Given the description of an element on the screen output the (x, y) to click on. 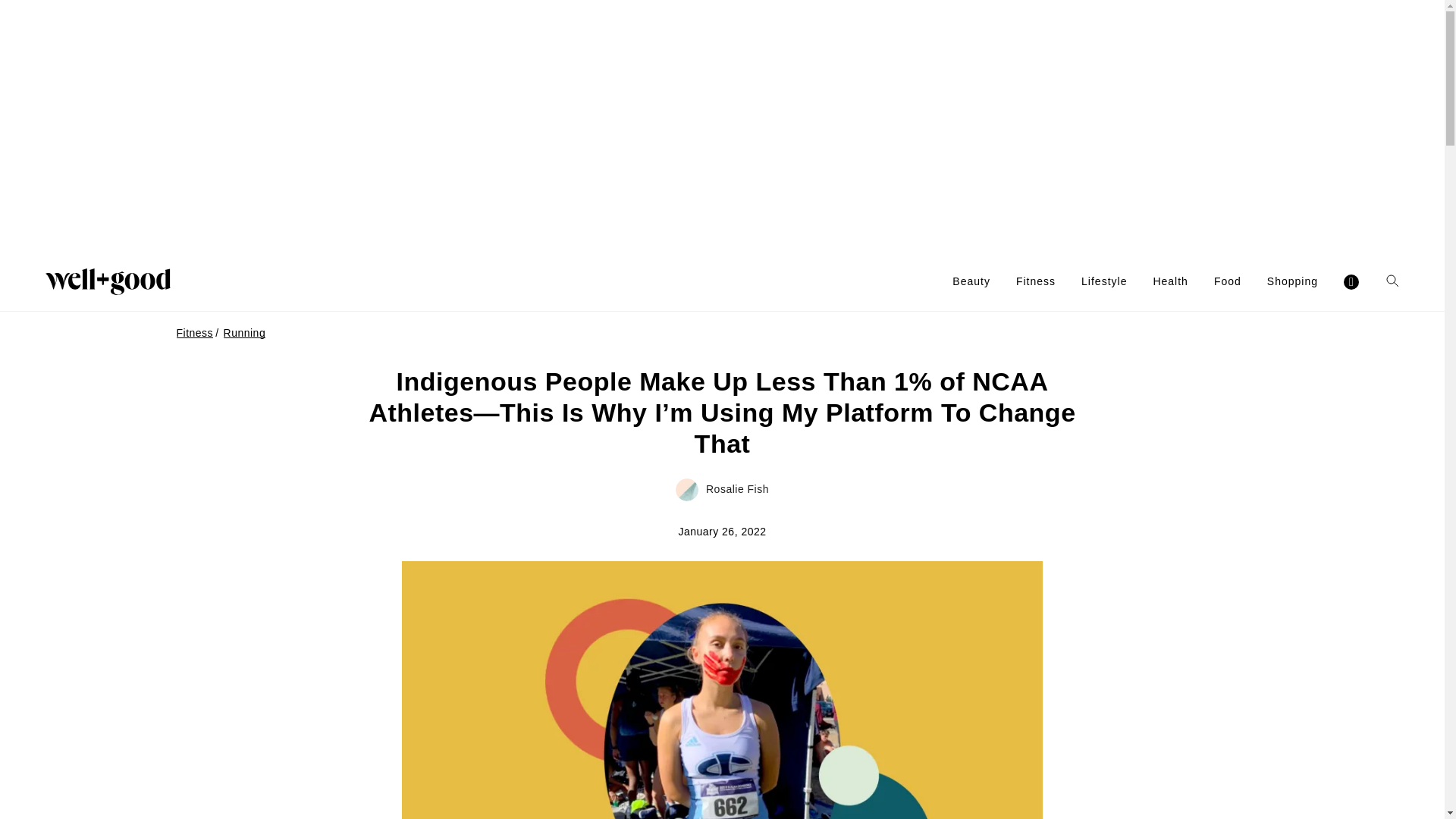
Beauty (971, 281)
Lifestyle (1103, 281)
Food (1227, 281)
Fitness (1035, 281)
Health (1170, 281)
Shopping (1291, 281)
